Given the description of an element on the screen output the (x, y) to click on. 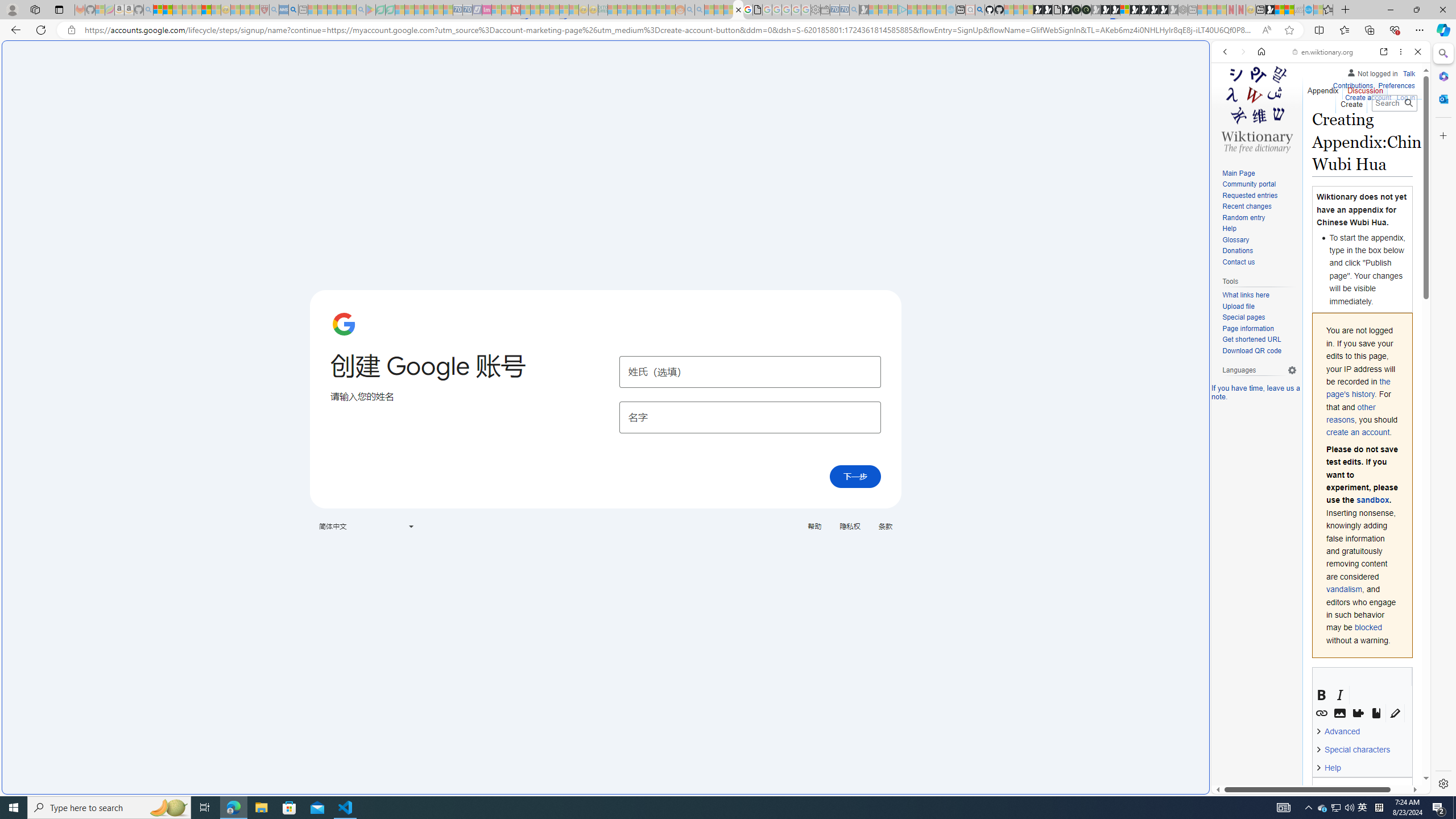
Advanced (1340, 731)
Get shortened URL (1251, 339)
Insert a template (1358, 713)
Page information (1247, 328)
